Given the description of an element on the screen output the (x, y) to click on. 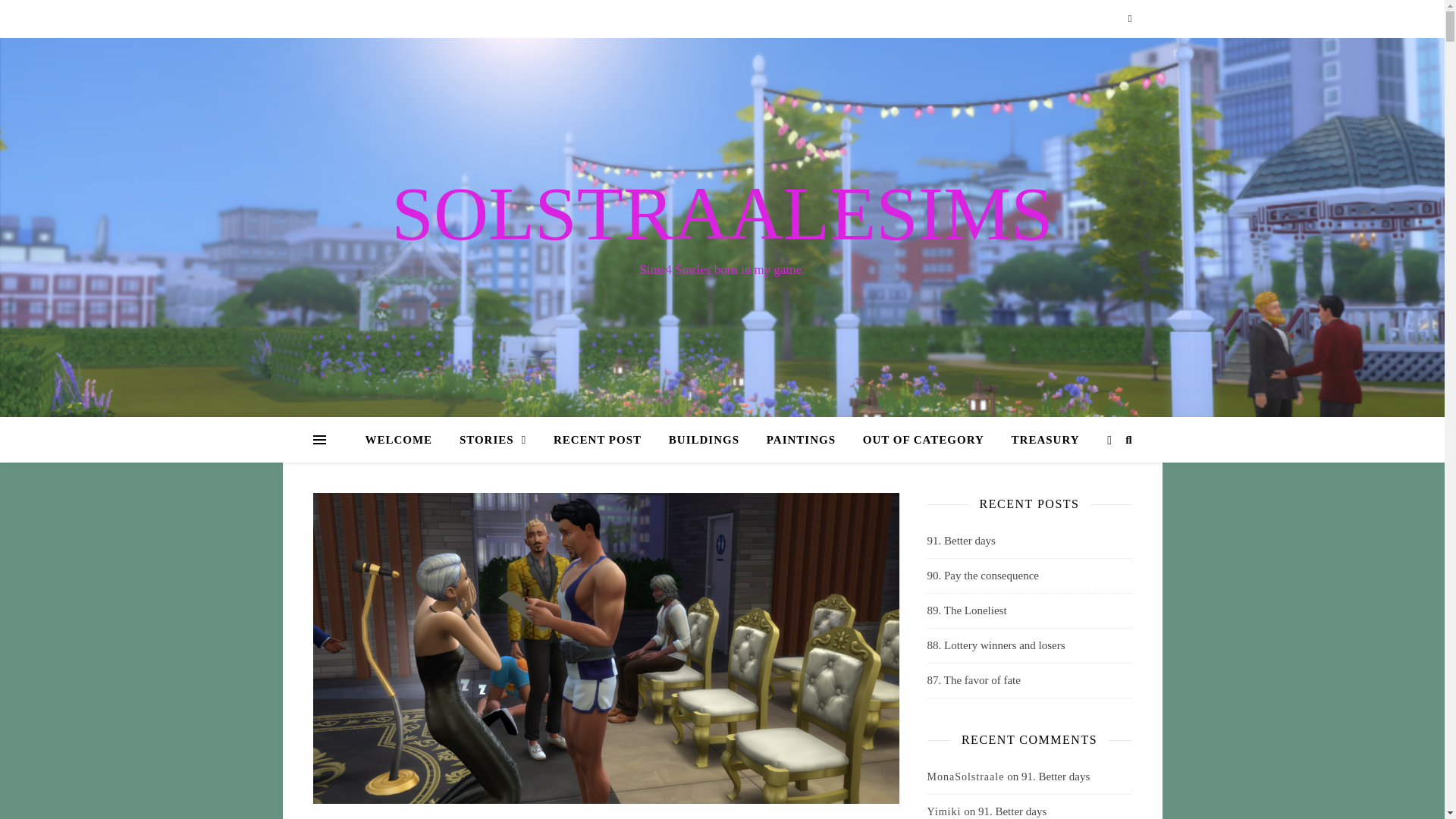
STORIES (492, 439)
BUILDINGS (703, 439)
RECENT POST (597, 439)
PAINTINGS (800, 439)
WELCOME (404, 439)
OUT OF CATEGORY (922, 439)
TREASURY (1039, 439)
